Given the description of an element on the screen output the (x, y) to click on. 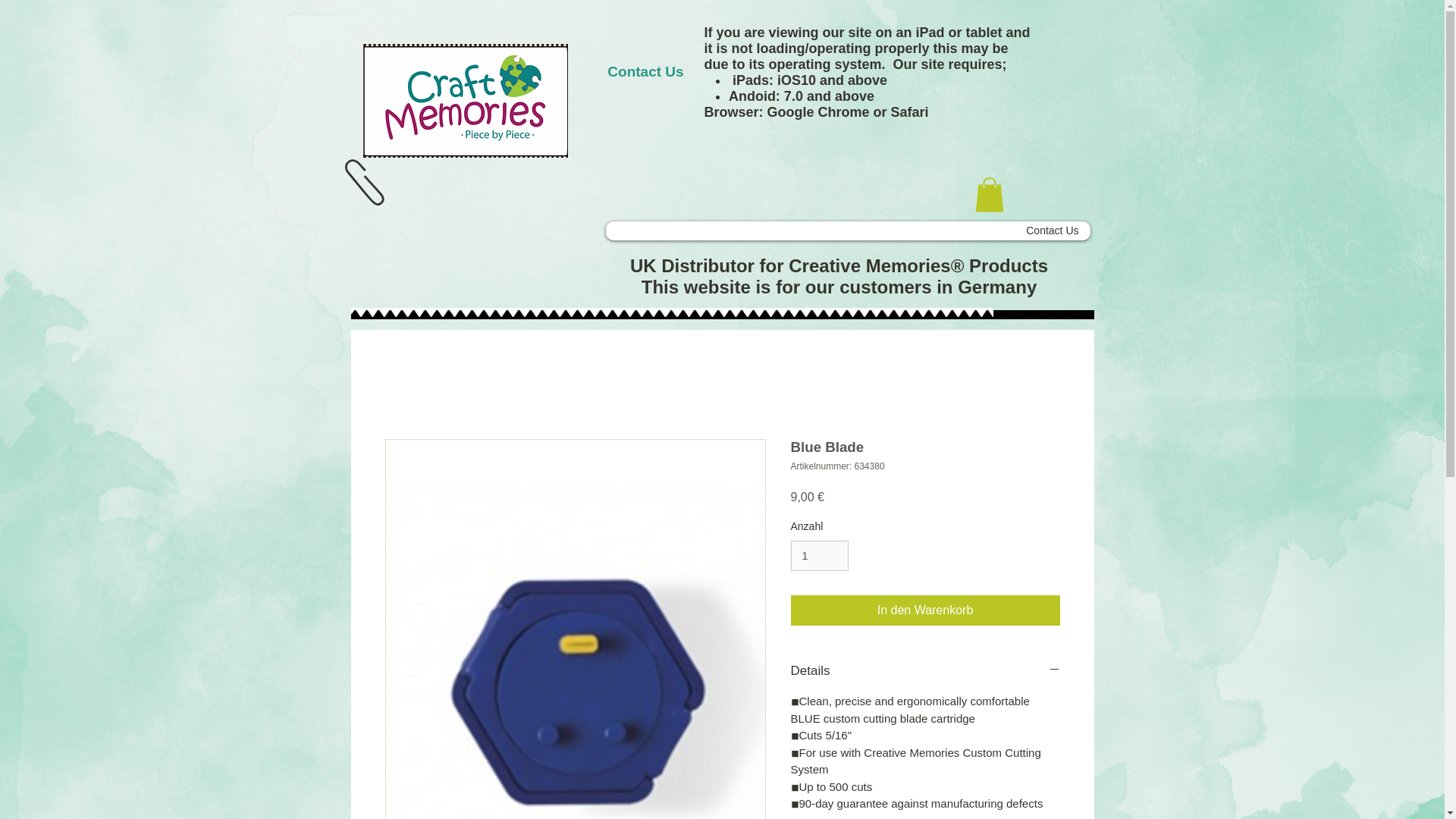
Contact Us (645, 72)
Contact Us (1052, 230)
1 (818, 555)
In den Warenkorb (924, 610)
Details (924, 670)
